Given the description of an element on the screen output the (x, y) to click on. 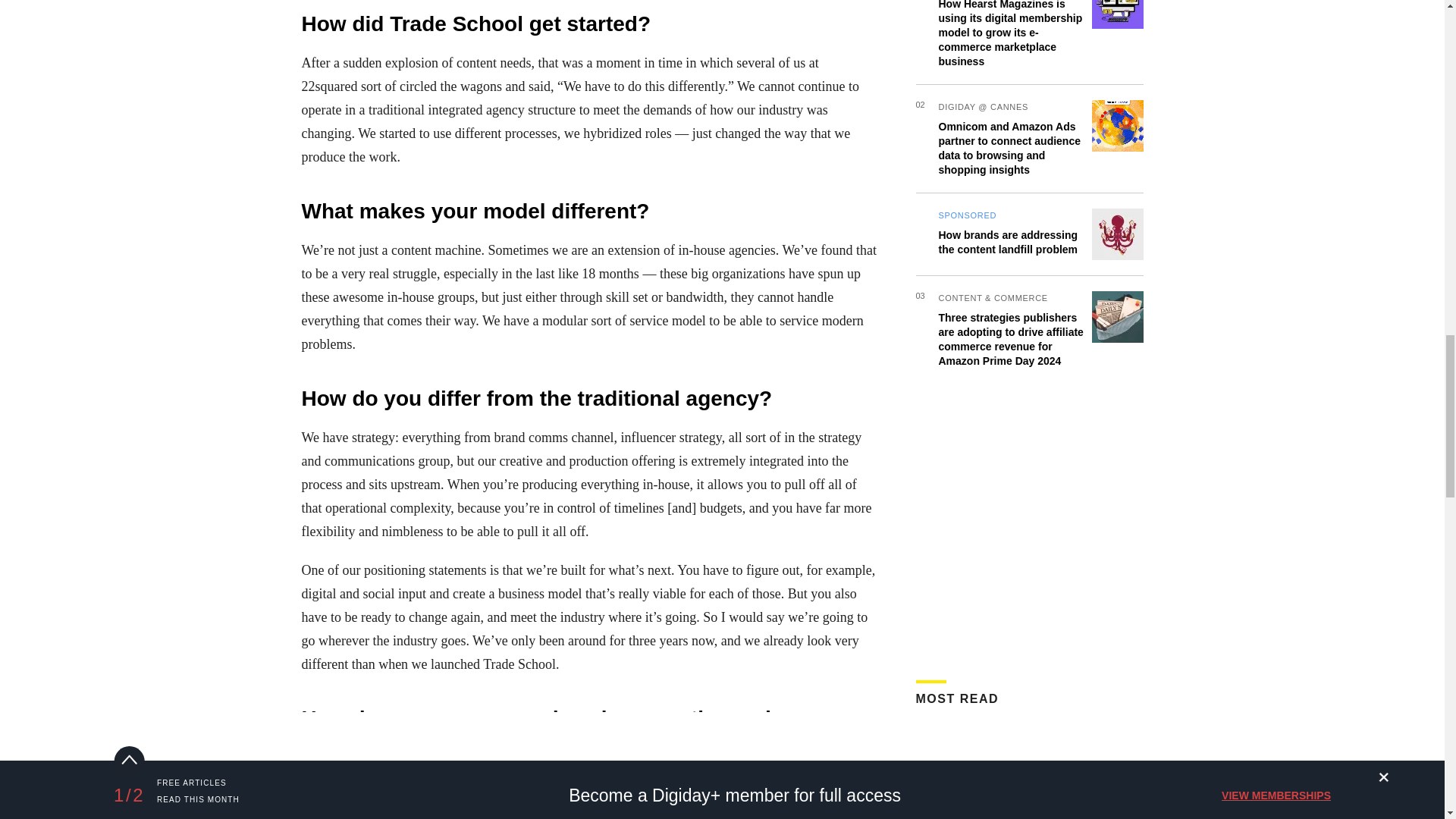
How brands are addressing the content landfill problem (1008, 5)
